Given the description of an element on the screen output the (x, y) to click on. 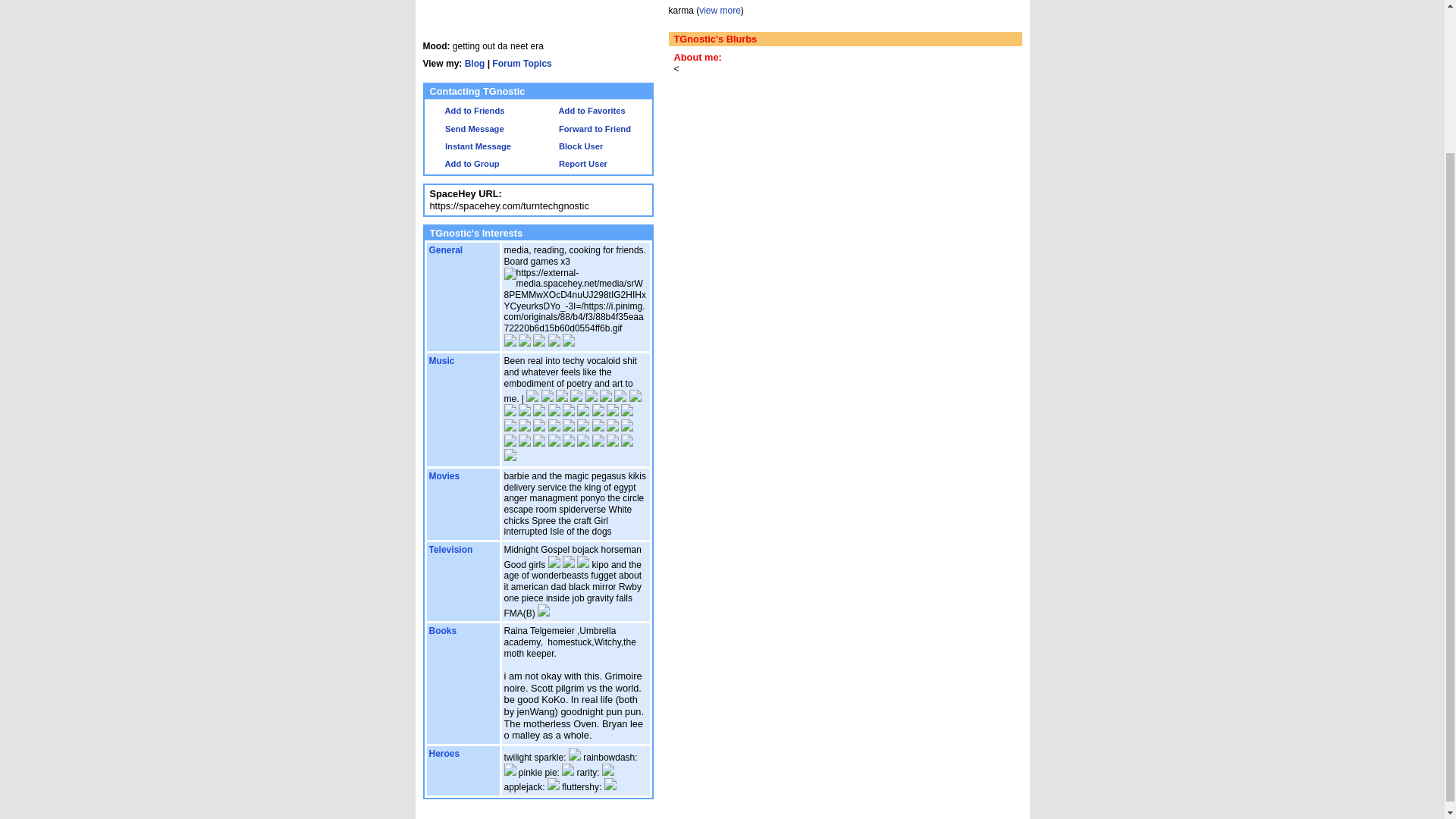
Instant Message (470, 145)
Send Message (466, 128)
Report User (575, 163)
Add to Group (464, 163)
Forward to Friend (586, 128)
Forum Topics (521, 63)
Blog (474, 63)
Add to Friends (466, 110)
Add to Favorites (583, 110)
view more (719, 9)
Block User (572, 145)
